Given the description of an element on the screen output the (x, y) to click on. 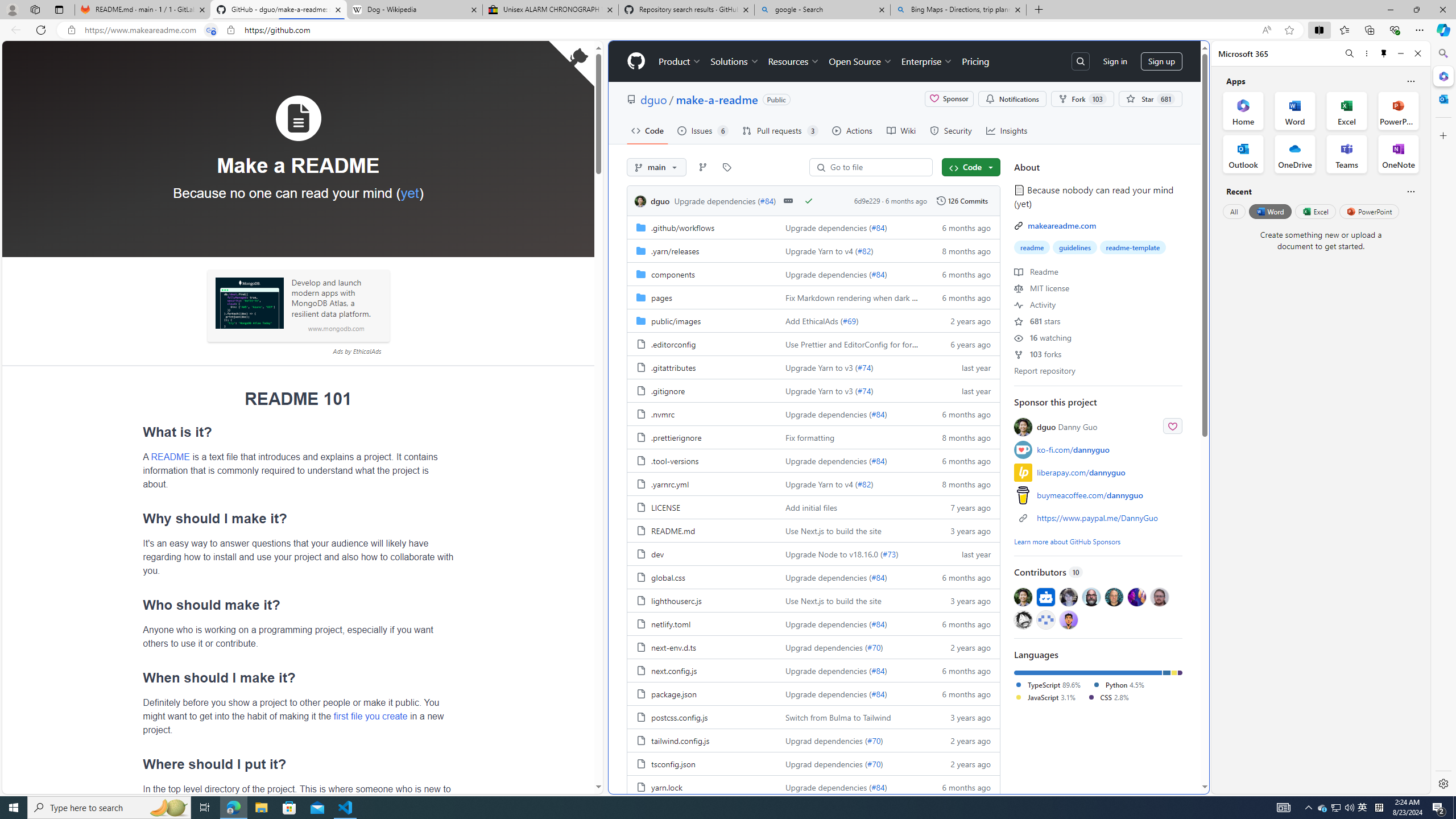
@web3Gurung (1068, 619)
Security (950, 130)
Use Next.js to build the site (832, 600)
makeareadme.com (1061, 225)
Class: mb-2 mr-2 (1068, 619)
readme-template (1132, 246)
Python 4.5% (1118, 683)
Add initial files (849, 506)
Python4.5% (1122, 684)
OneDrive Office App (1295, 154)
next-env.d.ts, (File) (672, 646)
dguo Danny Guo (1066, 426)
